Given the description of an element on the screen output the (x, y) to click on. 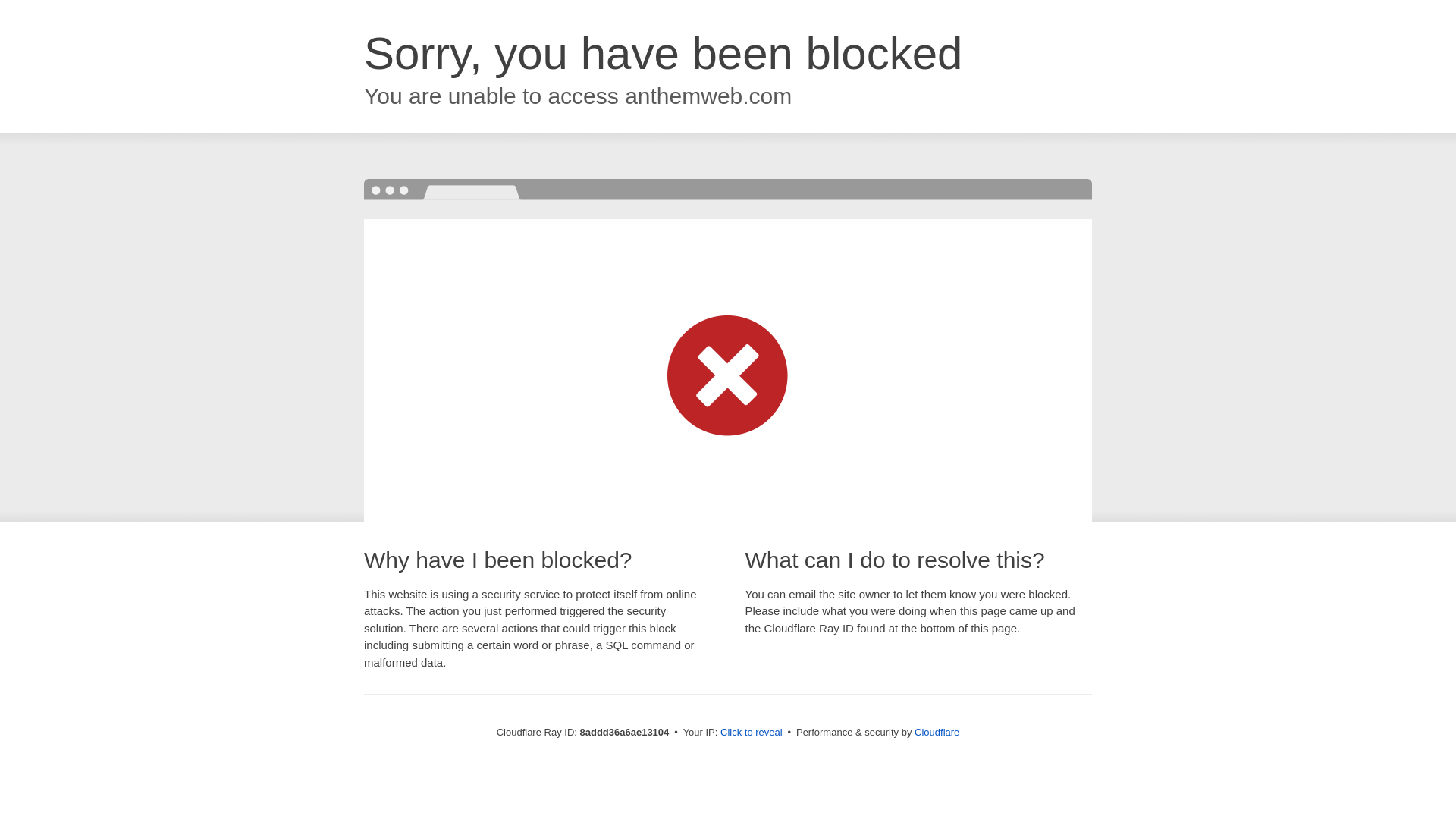
Click to reveal (751, 732)
Cloudflare (936, 731)
